Given the description of an element on the screen output the (x, y) to click on. 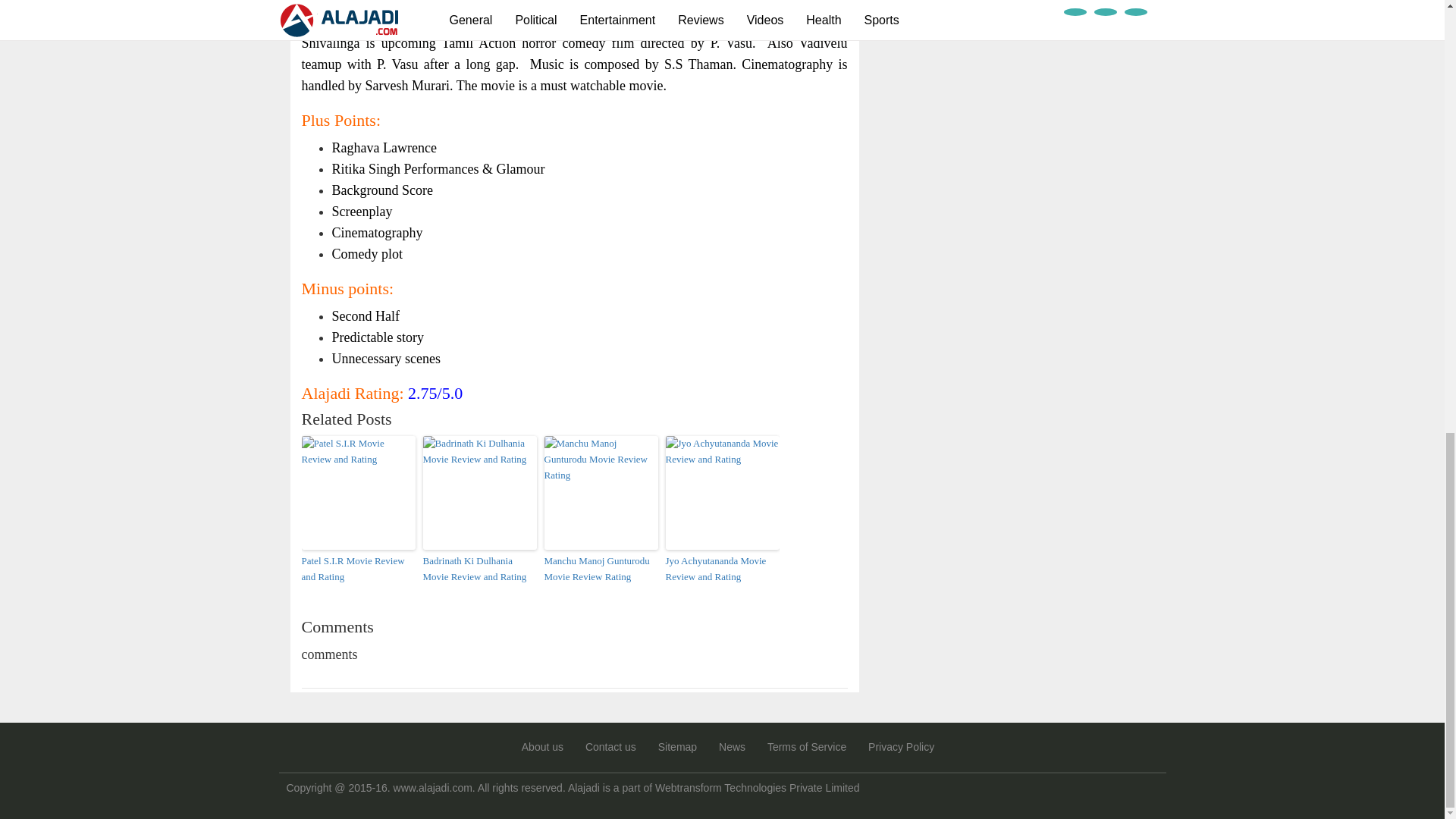
About us (542, 746)
Jyo Achyutananda Movie Review and Rating (721, 569)
Patel S.I.R Movie Review and Rating (357, 569)
Manchu Manoj Gunturodu Movie Review Rating (601, 569)
Badrinath Ki Dulhania Movie Review and Rating (480, 569)
